Given the description of an element on the screen output the (x, y) to click on. 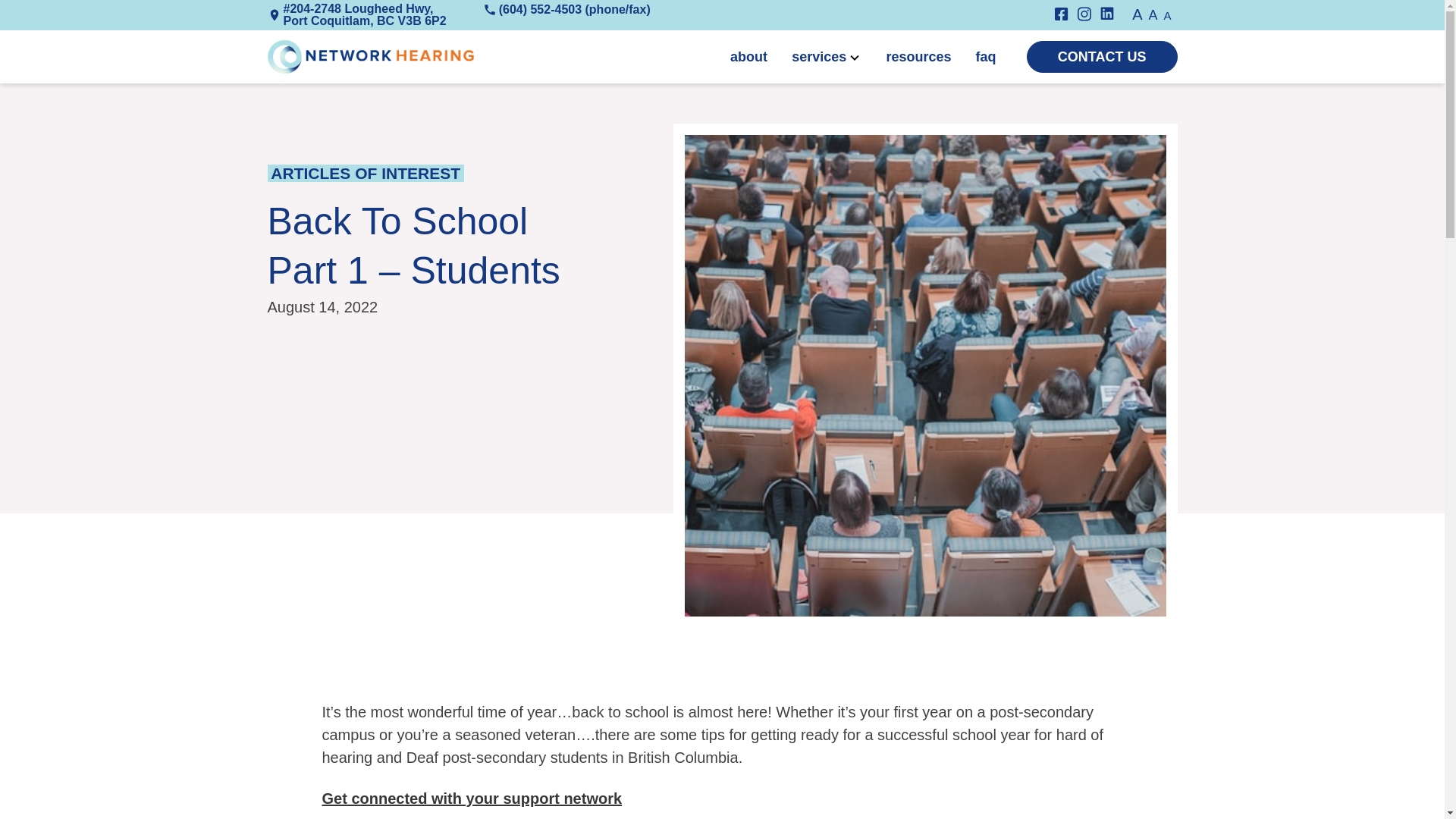
Instagram (1088, 14)
about (748, 56)
faq (985, 56)
Facebook (1065, 14)
resources (917, 56)
services (818, 56)
CONTACT US (1101, 56)
